Given the description of an element on the screen output the (x, y) to click on. 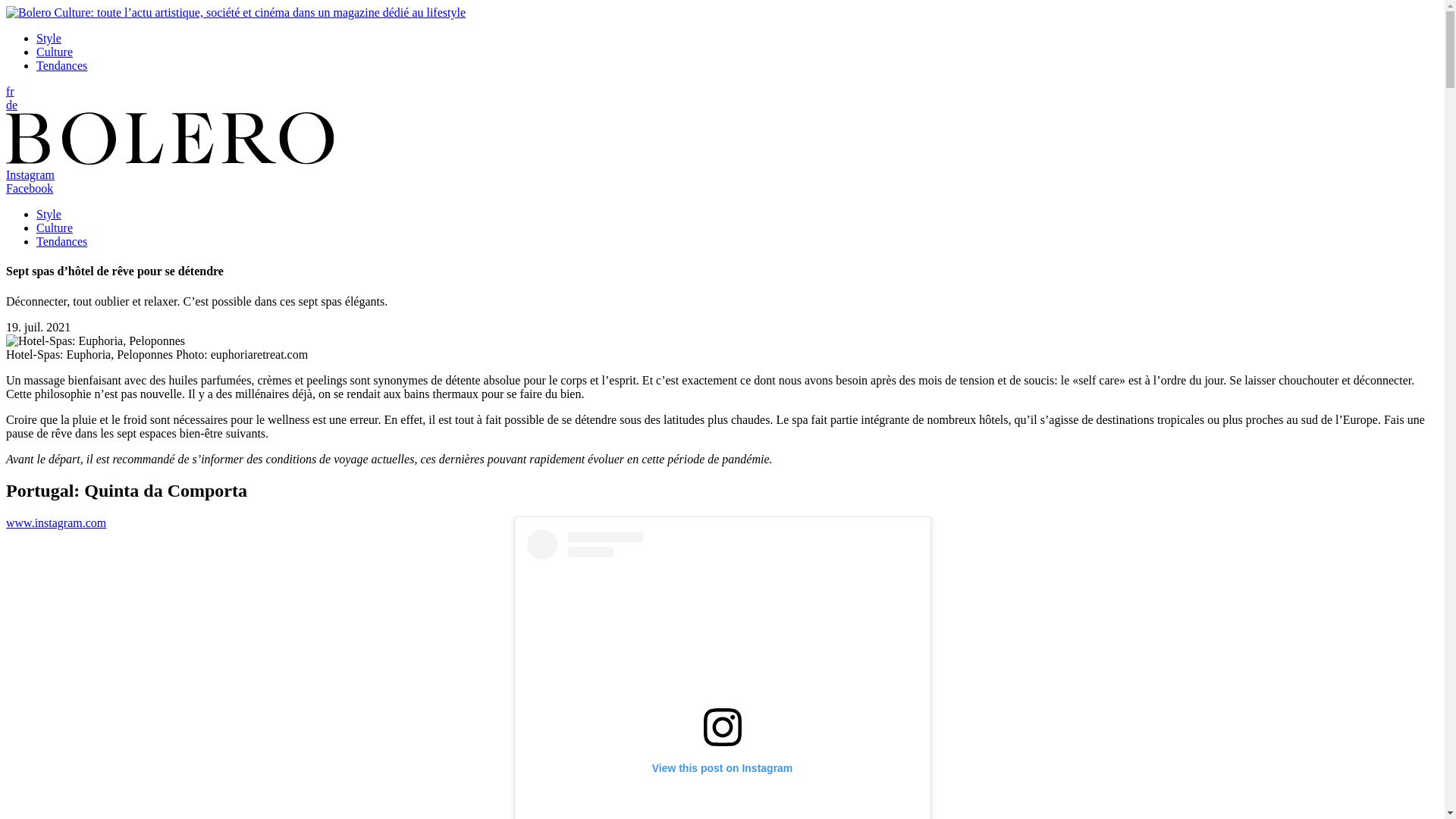
Tendances Element type: text (61, 65)
Culture Element type: text (54, 227)
Style Element type: text (48, 213)
Culture Element type: text (54, 51)
fr Element type: text (10, 90)
Hotel-Spas: Euphoria, Peloponnes Element type: hover (95, 341)
Facebook Element type: text (29, 188)
www.instagram.com Element type: text (56, 522)
Instagram Element type: text (30, 174)
Style Element type: text (48, 37)
de Element type: text (11, 104)
Tendances Element type: text (61, 241)
